Given the description of an element on the screen output the (x, y) to click on. 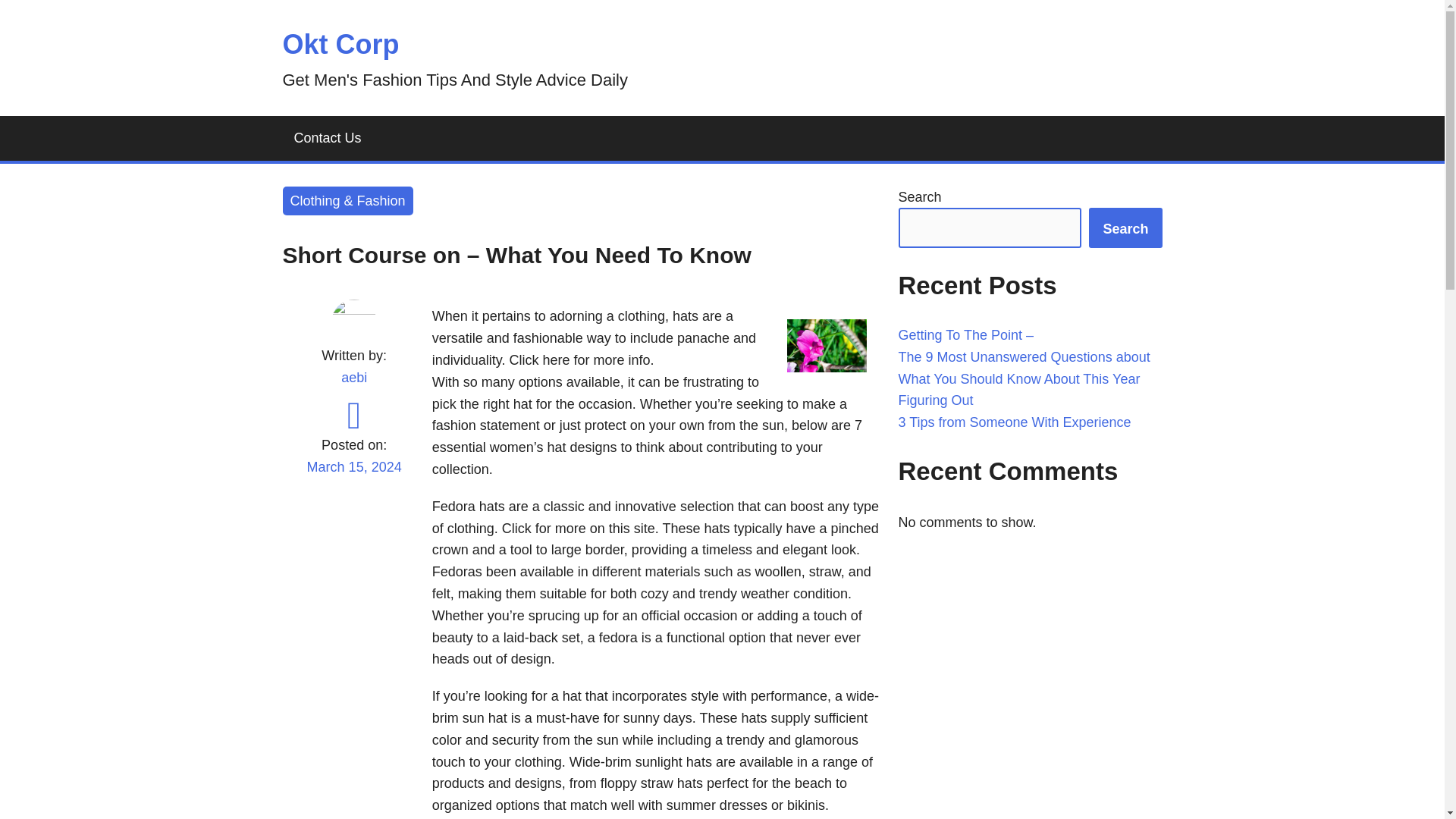
The 9 Most Unanswered Questions about (1024, 356)
aebi (353, 377)
Figuring Out (935, 400)
What You Should Know About This Year (1019, 378)
March 15, 2024 (353, 476)
Okt Corp (340, 43)
Search (1125, 228)
Contact Us (327, 138)
3 Tips from Someone With Experience (1014, 421)
